Given the description of an element on the screen output the (x, y) to click on. 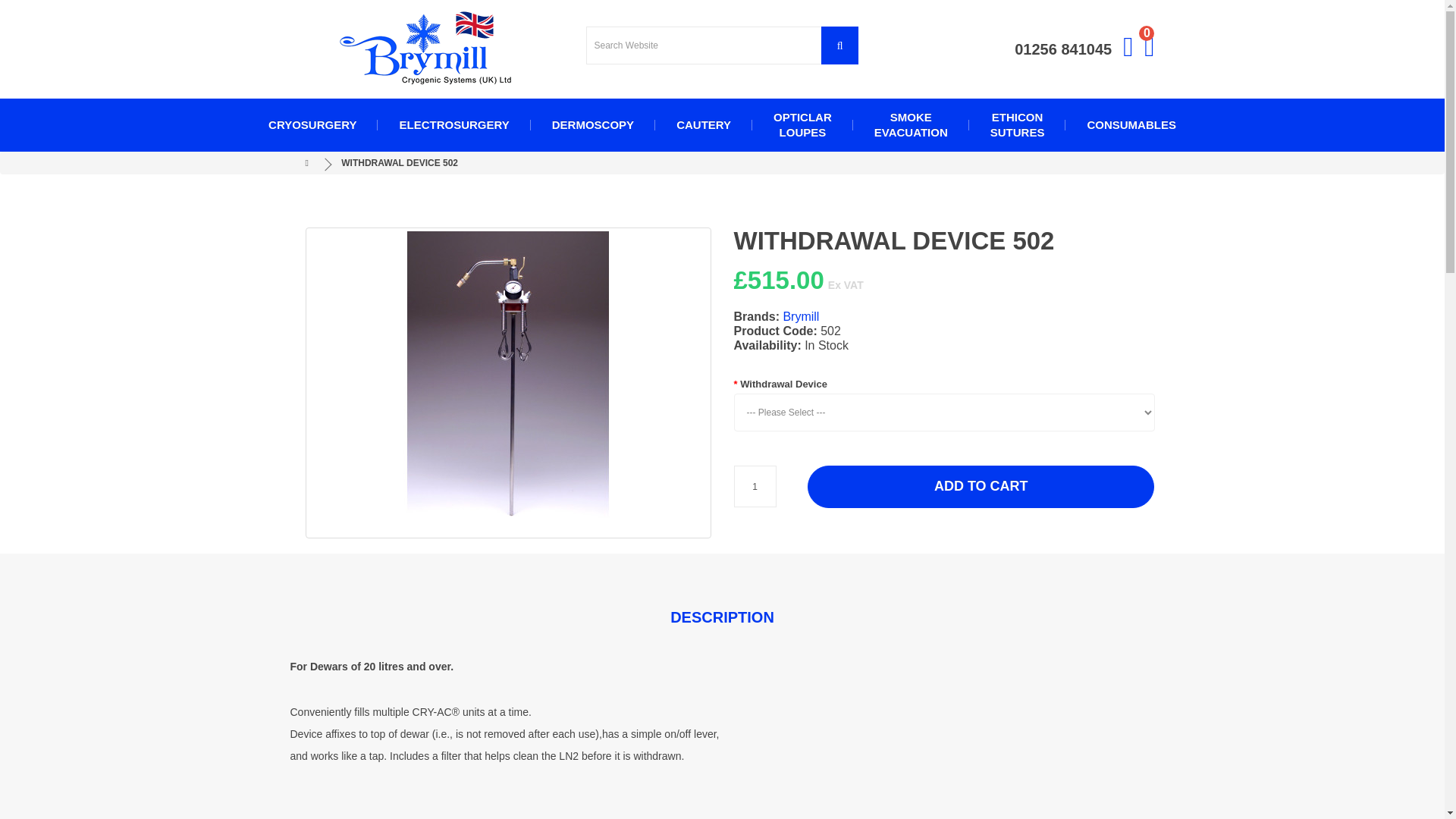
DERMOSCOPY (593, 124)
ETHICON SUTURES (1017, 124)
CRYOSURGERY (910, 124)
Checkout (312, 124)
Withdrawal Device 502 (1149, 51)
ELECTROSURGERY (507, 382)
CAUTERY (454, 124)
1 (703, 124)
0 (754, 486)
OPTICLAR LOUPES (1149, 51)
Withdrawal Device 502 (802, 124)
Brymill Cryogenic Systems UK Ltd (507, 382)
My Account (425, 48)
